Given the description of an element on the screen output the (x, y) to click on. 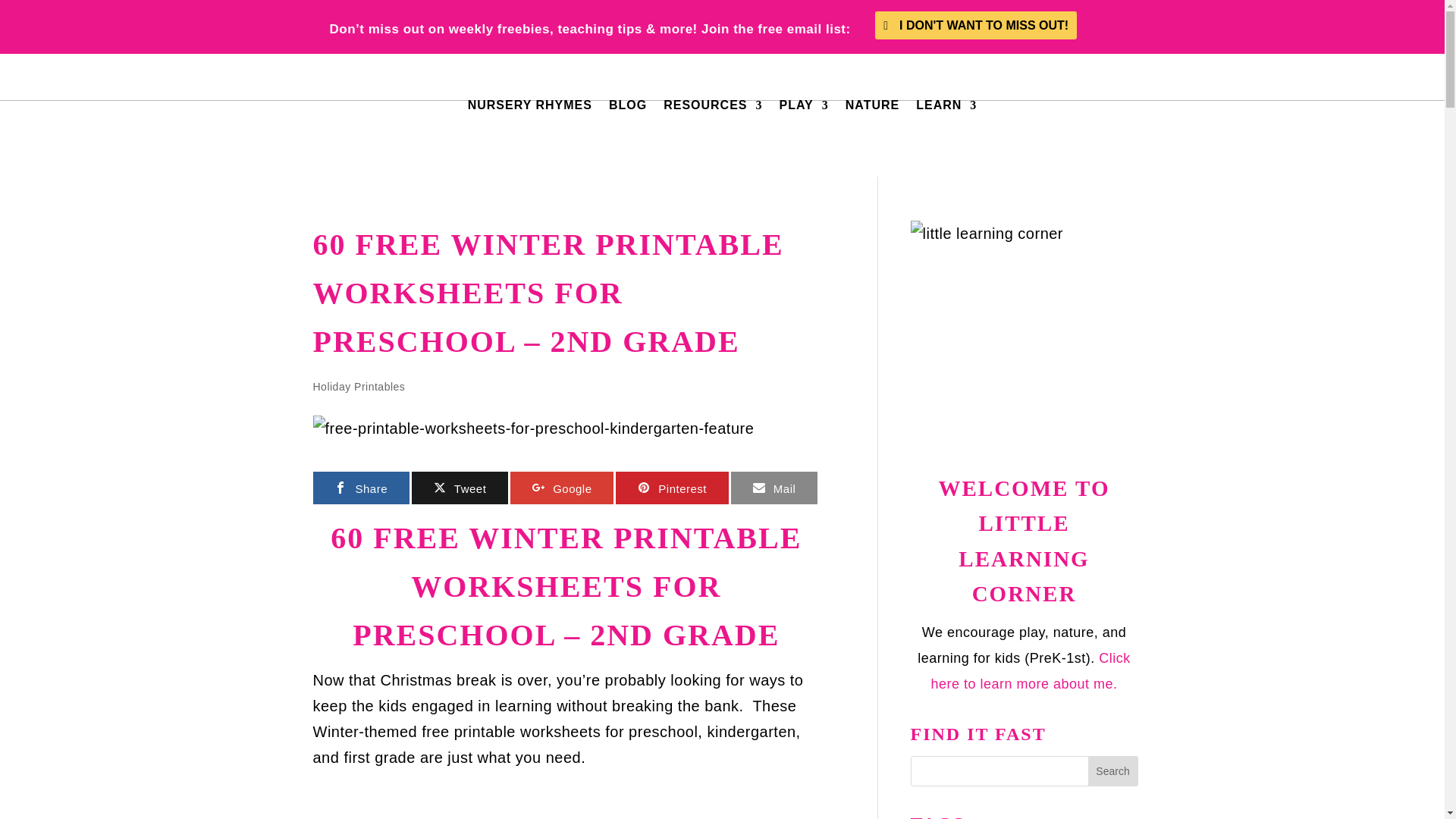
NURSERY RHYMES (529, 105)
Search (1112, 770)
I DON'T WANT TO MISS OUT! (976, 25)
RESOURCES (712, 105)
LEARN (945, 105)
NATURE (872, 105)
